Given the description of an element on the screen output the (x, y) to click on. 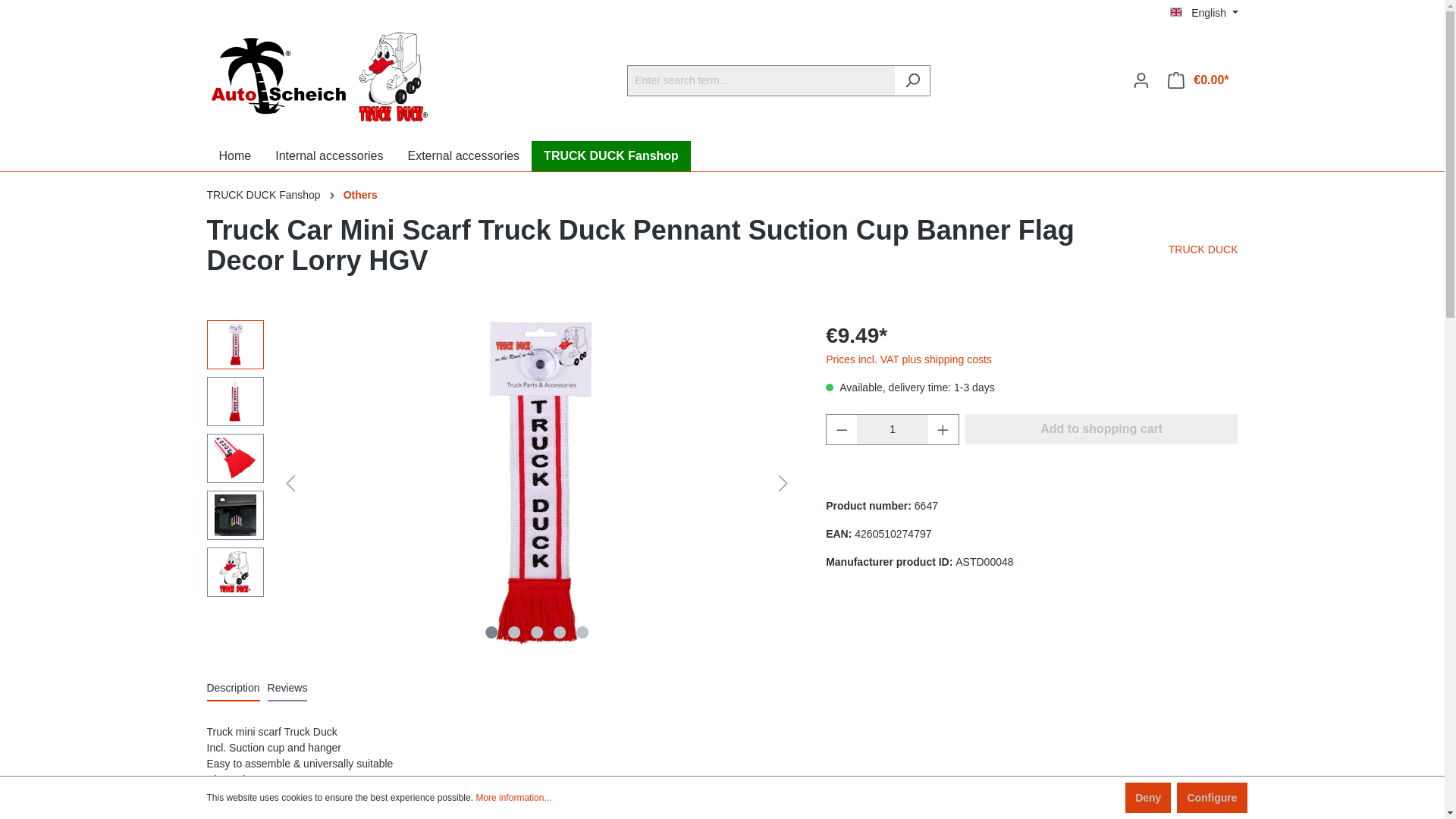
External accessories (462, 155)
TRUCK DUCK Fanshop (610, 155)
1 (892, 429)
TRUCK DUCK Fanshop (610, 155)
English (1203, 12)
Go to homepage (319, 76)
External accessories (462, 155)
Home (234, 155)
Shopping cart (1197, 80)
Home (234, 155)
Internal accessories (328, 155)
Your account (1141, 80)
Internal accessories (328, 155)
